Given the description of an element on the screen output the (x, y) to click on. 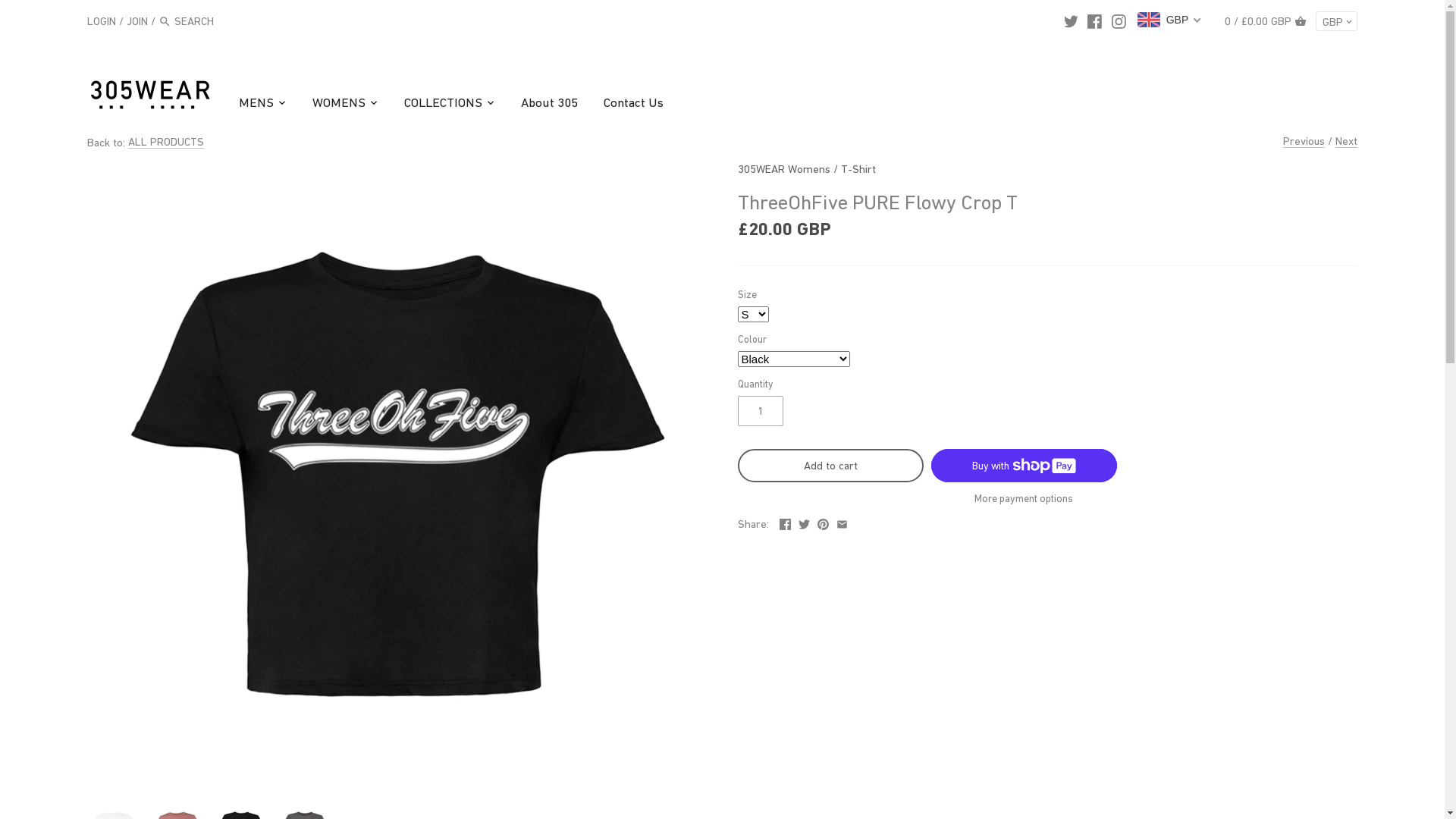
FACEBOOK Element type: text (1094, 20)
Next Element type: text (1346, 140)
Email Element type: text (841, 521)
TWITTER Element type: text (1070, 20)
JOIN Element type: text (136, 19)
LOGIN Element type: text (101, 19)
Previous Element type: text (1303, 140)
Add to cart Element type: text (829, 465)
Pinterest Element type: text (822, 521)
WOMENS Element type: text (338, 104)
T-Shirt Element type: text (857, 168)
ALL PRODUCTS Element type: text (165, 141)
Search Element type: text (164, 21)
305WEAR Womens Element type: text (783, 168)
About 305 Element type: text (549, 104)
More payment options Element type: text (1024, 498)
Contact Us Element type: text (633, 104)
Facebook Element type: text (784, 521)
MENS Element type: text (262, 104)
COLLECTIONS Element type: text (443, 104)
Twitter Element type: text (803, 521)
INSTAGRAM Element type: text (1118, 20)
